Given the description of an element on the screen output the (x, y) to click on. 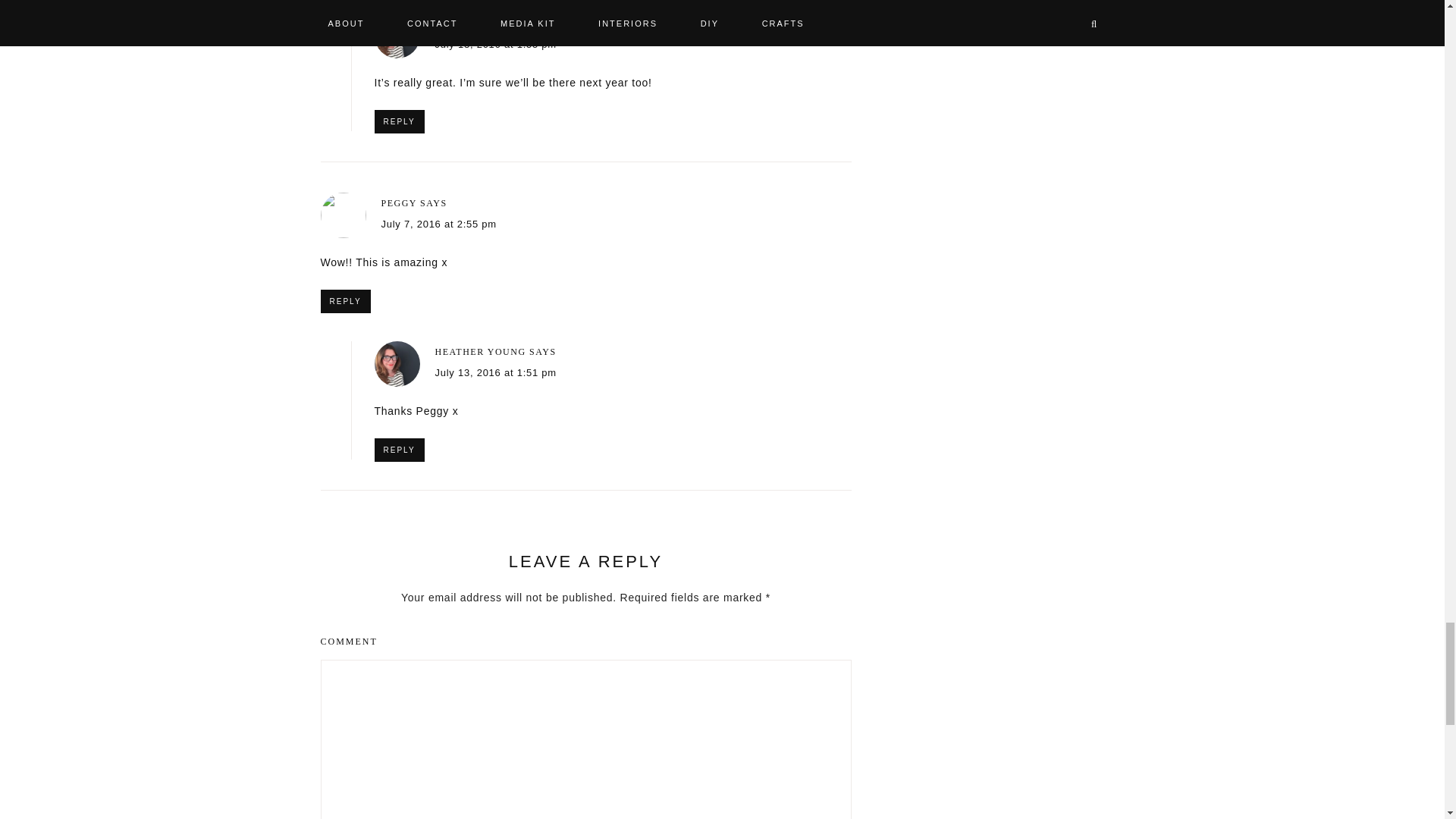
HEATHER YOUNG (480, 23)
July 13, 2016 at 1:55 pm (495, 43)
